Given the description of an element on the screen output the (x, y) to click on. 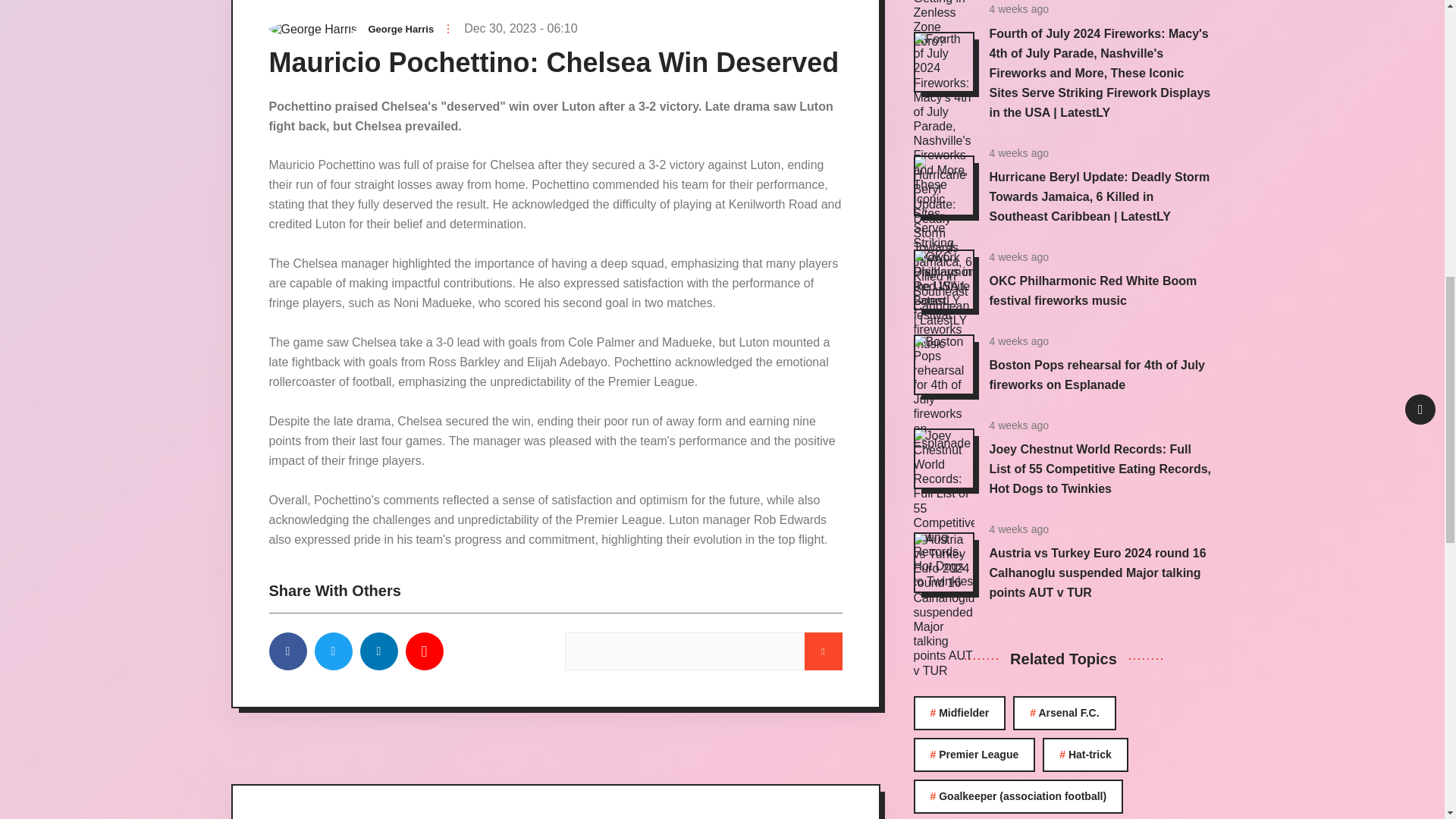
George Harris (400, 29)
OKC Philharmonic Red White Boom festival fireworks music (1092, 290)
